Given the description of an element on the screen output the (x, y) to click on. 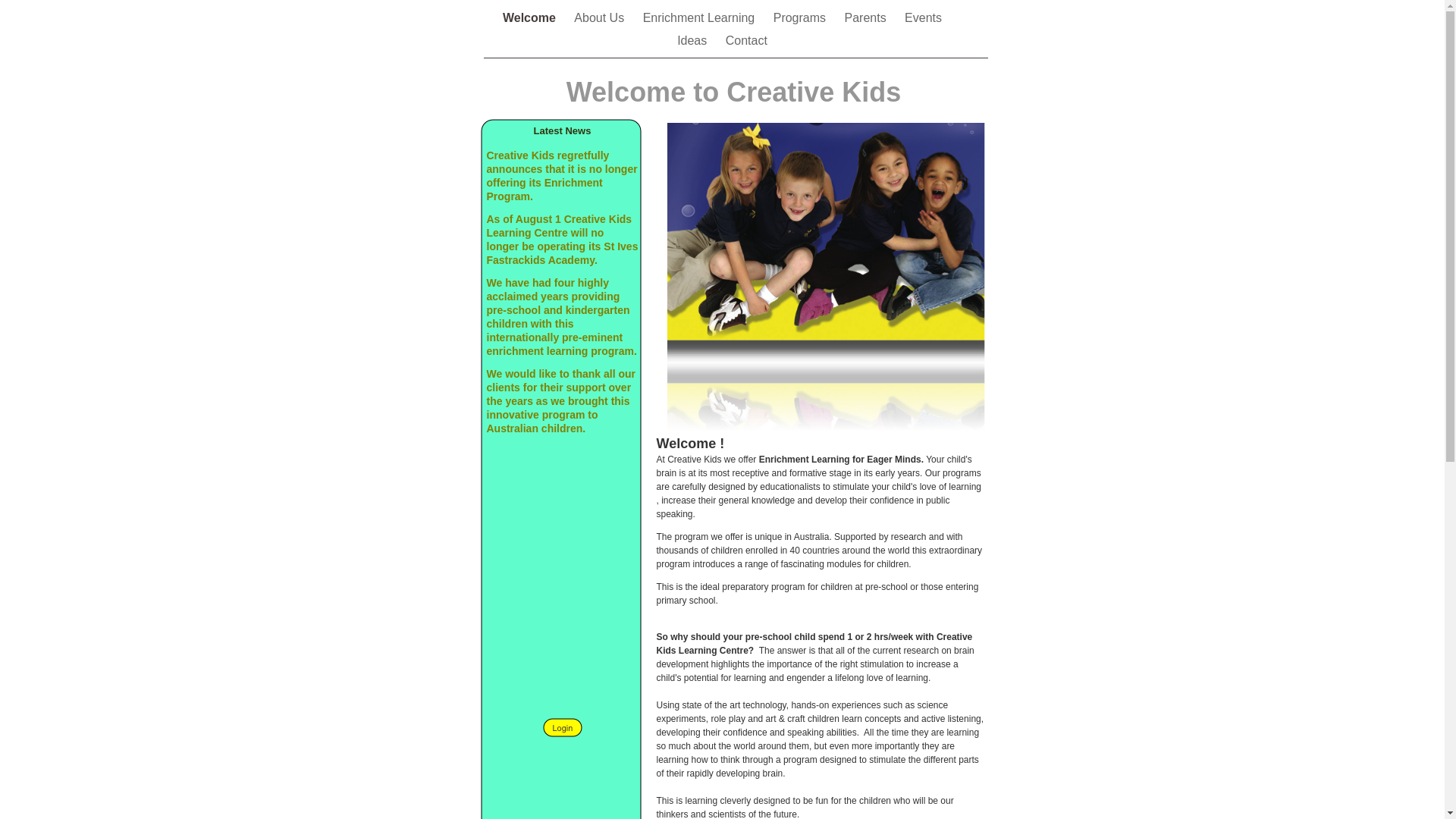
Welcome Element type: text (530, 17)
Parents Element type: text (867, 17)
Enrichment Learning Element type: text (700, 17)
About Us Element type: text (600, 17)
Programs Element type: text (801, 17)
Events Element type: text (922, 17)
Ideas Element type: text (693, 40)
Contact Element type: text (746, 40)
